Given the description of an element on the screen output the (x, y) to click on. 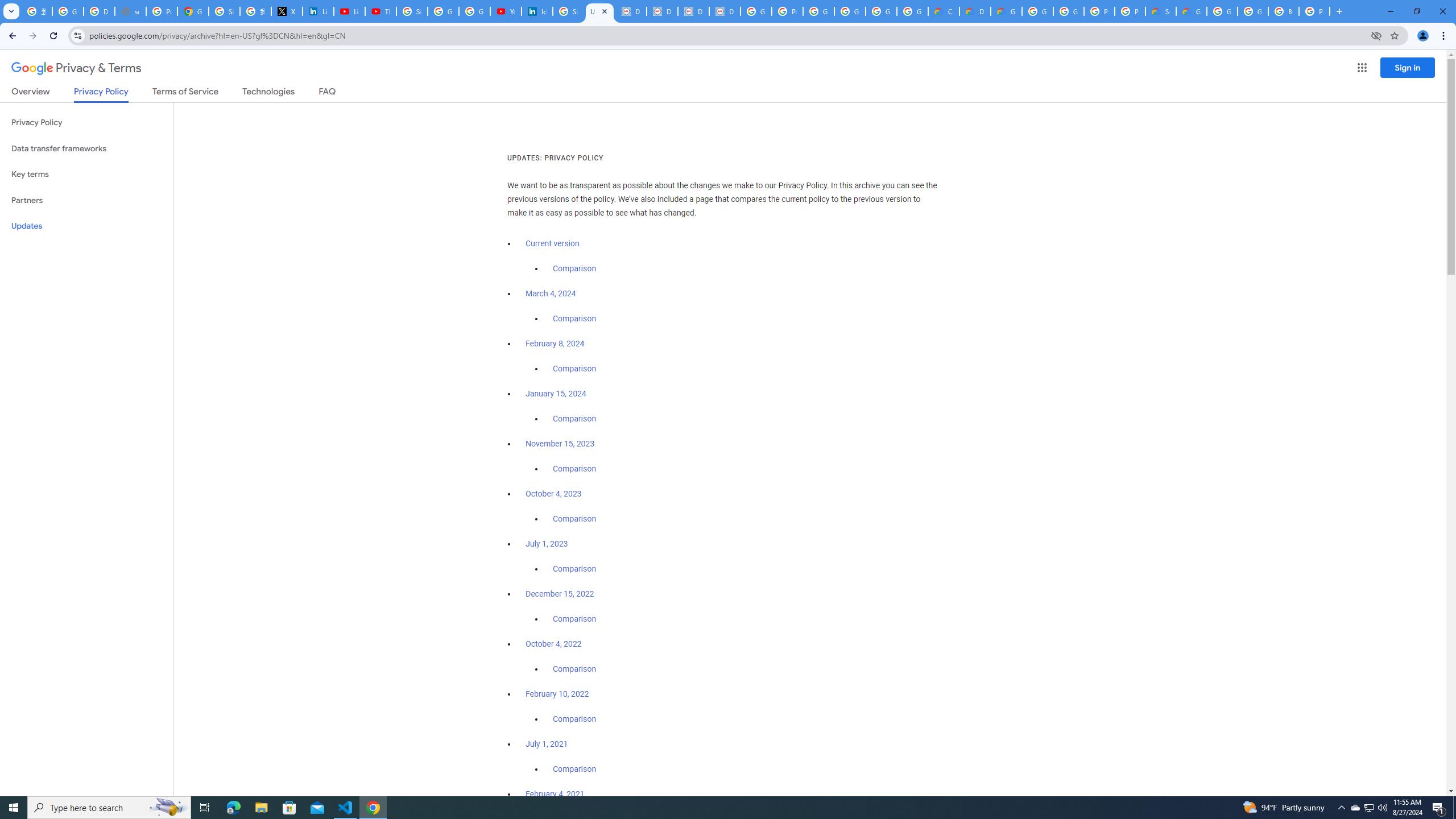
Data Privacy Framework (631, 11)
Data Privacy Framework (724, 11)
Google Cloud Platform (1252, 11)
Support Hub | Google Cloud (1160, 11)
Data Privacy Framework (662, 11)
Key terms (86, 174)
Sign in - Google Accounts (411, 11)
Sign in - Google Accounts (568, 11)
